Given the description of an element on the screen output the (x, y) to click on. 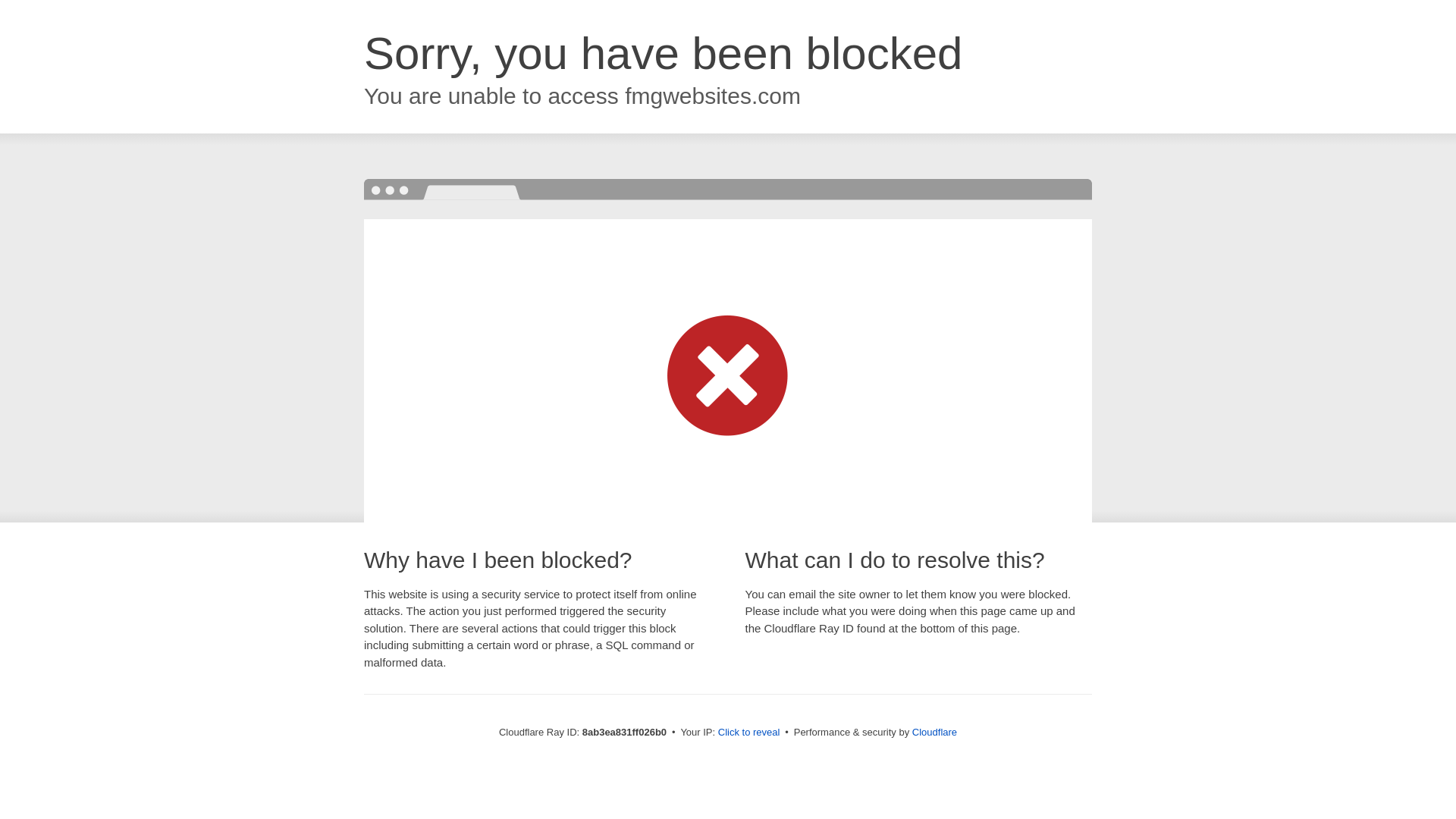
Cloudflare (934, 731)
Click to reveal (748, 732)
